Given the description of an element on the screen output the (x, y) to click on. 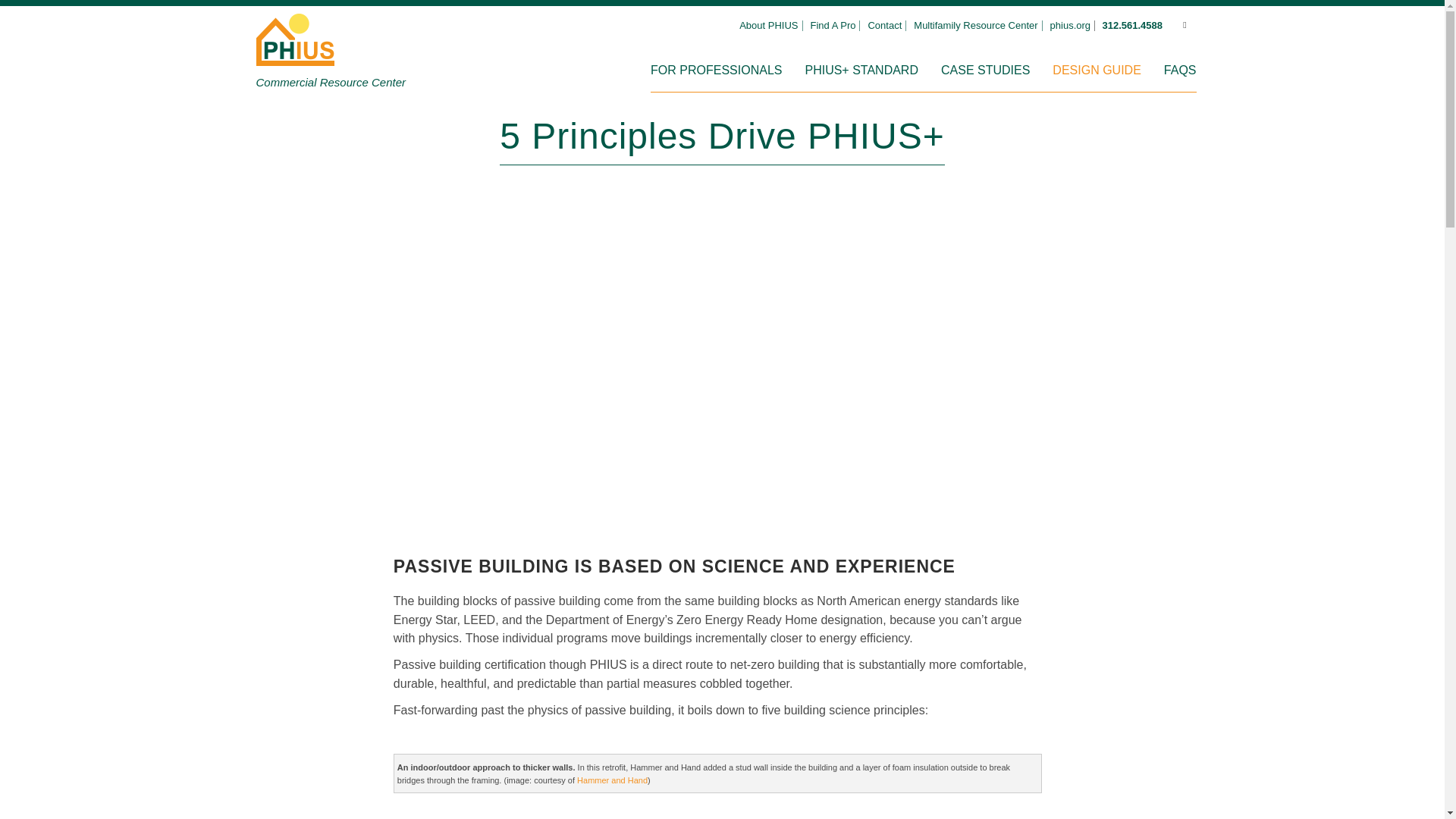
About PHIUS (770, 25)
Home (295, 55)
Contact (886, 25)
Find A Pro (834, 25)
Multifamily Resource Center (978, 25)
CASE STUDIES (984, 70)
FOR PROFESSIONALS (715, 70)
DESIGN GUIDE (1096, 70)
phius.org (1071, 25)
